Given the description of an element on the screen output the (x, y) to click on. 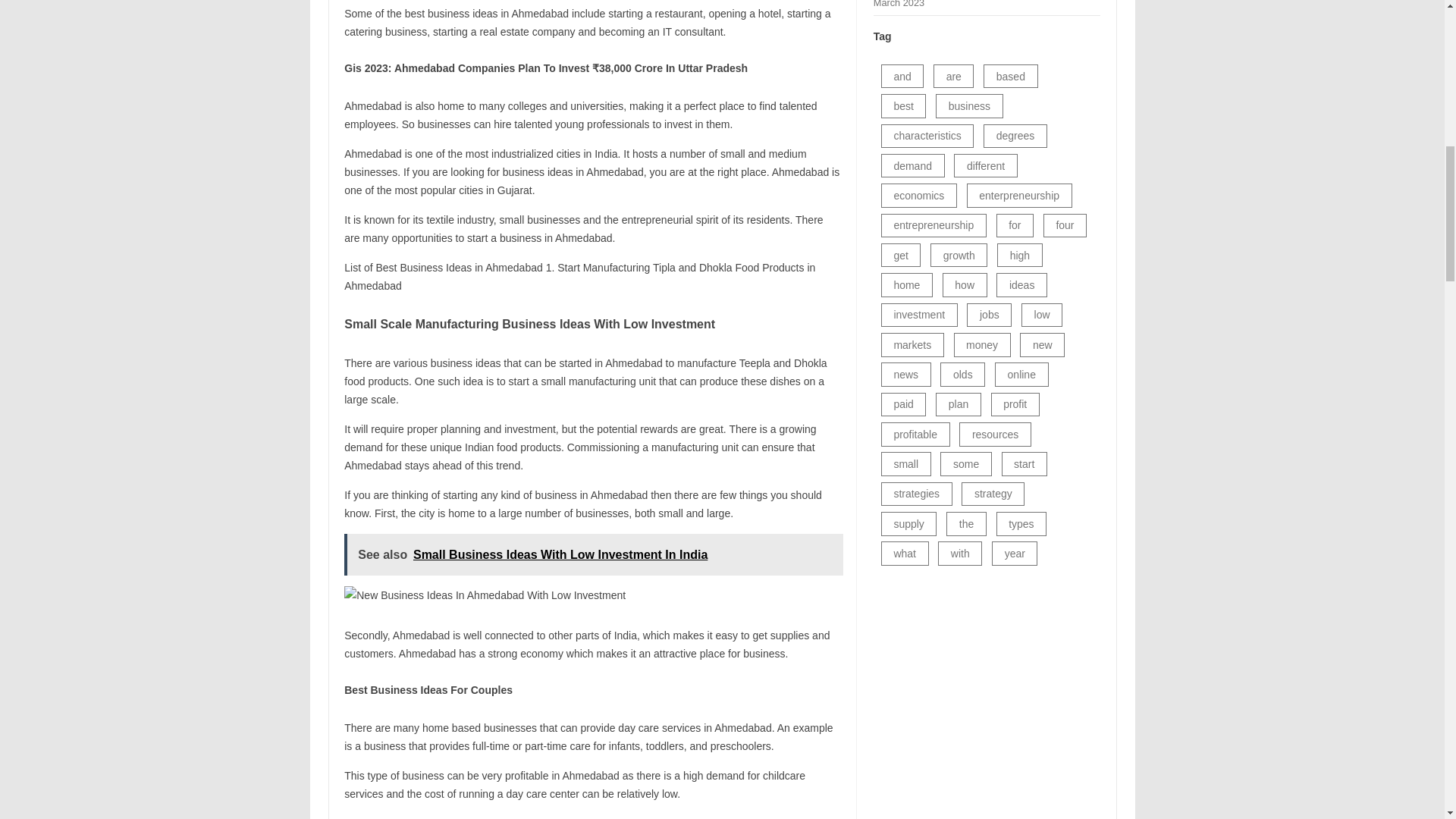
See also  Small Business Ideas With Low Investment In India (593, 554)
